Given the description of an element on the screen output the (x, y) to click on. 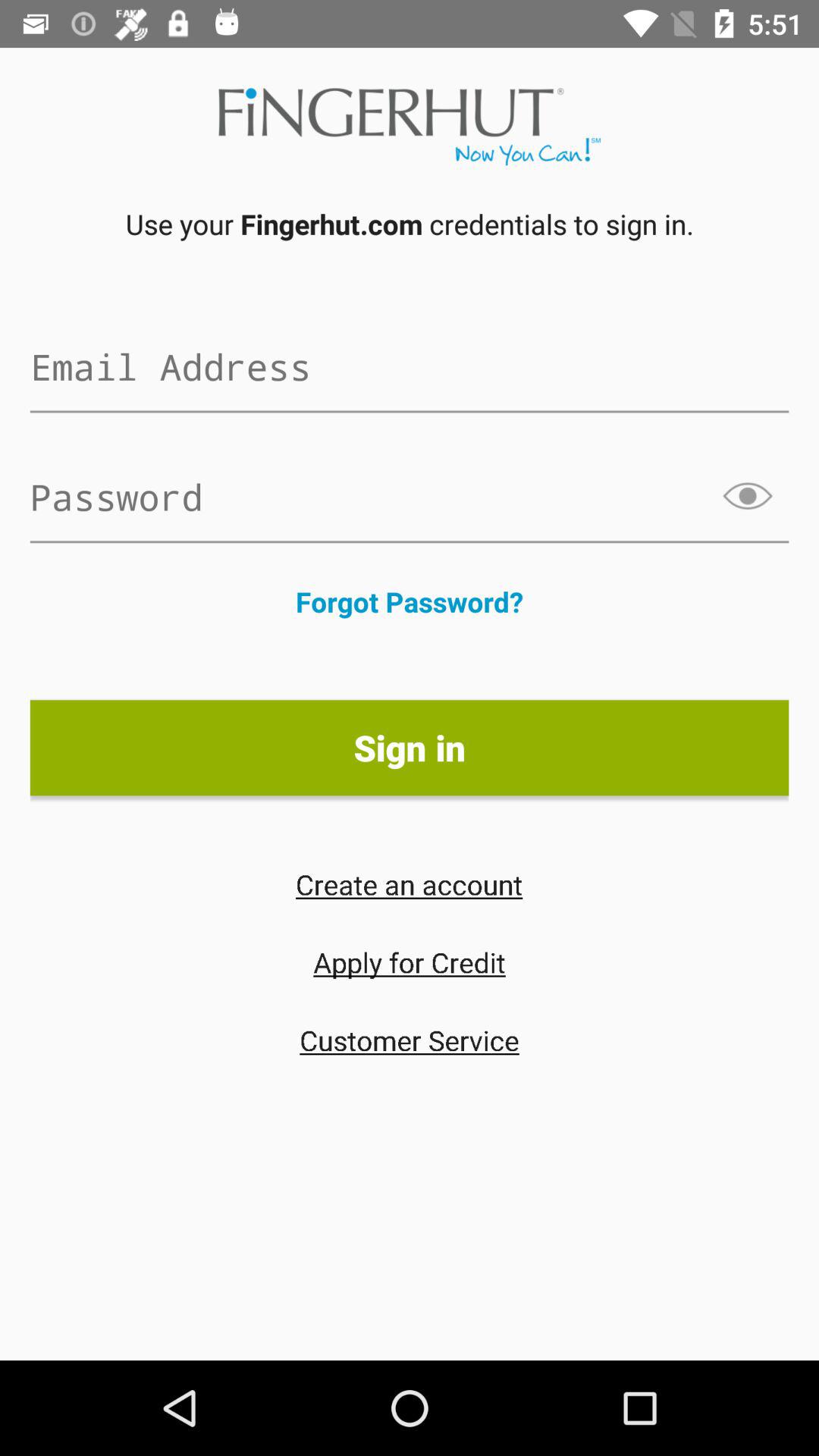
select icon below sign in item (408, 884)
